Given the description of an element on the screen output the (x, y) to click on. 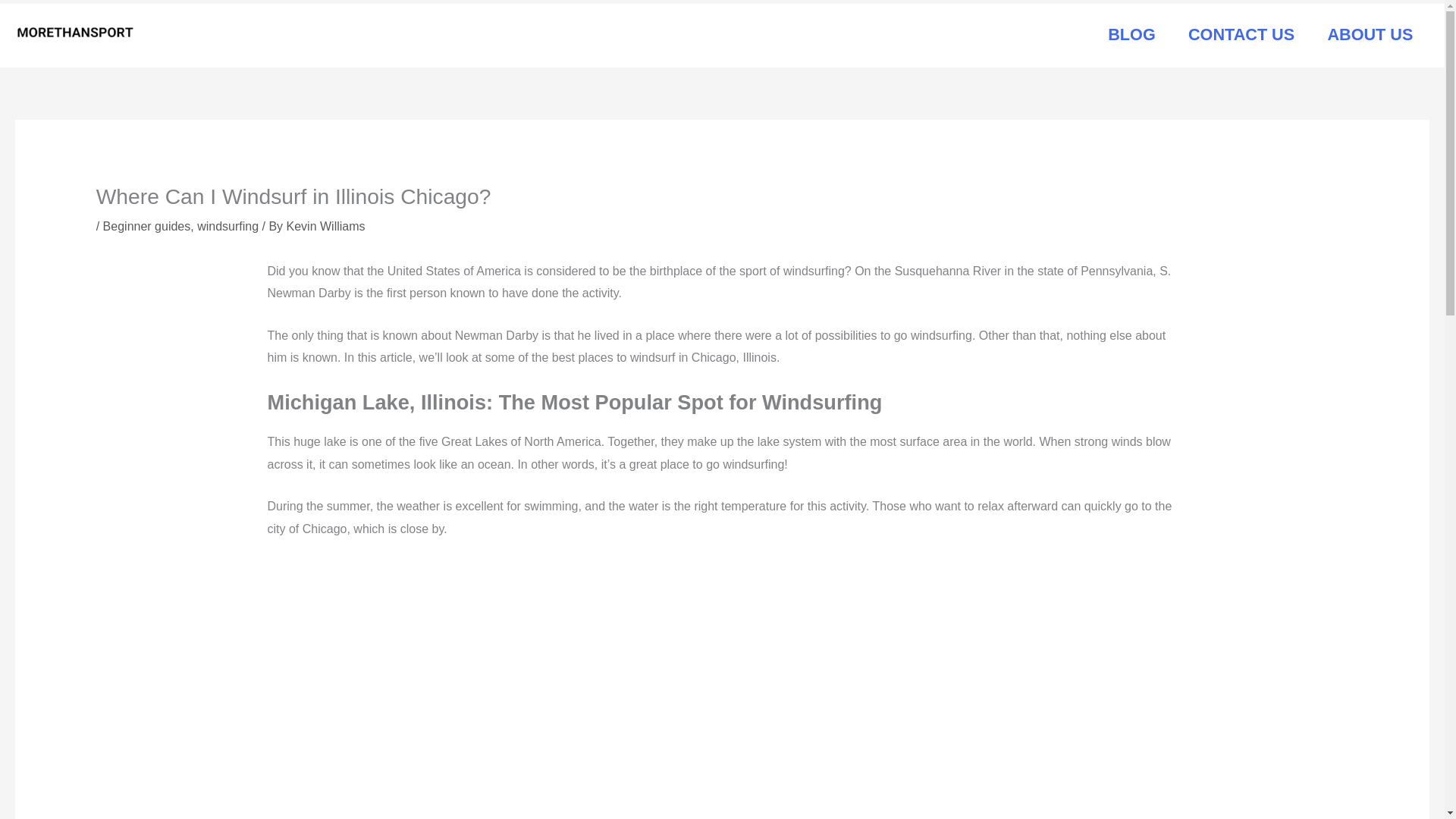
Beginner guides (146, 226)
View all posts by Kevin Williams (325, 226)
windsurfing (227, 226)
ABOUT US (1370, 34)
BLOG (1132, 34)
Kevin Williams (325, 226)
CONTACT US (1241, 34)
